Given the description of an element on the screen output the (x, y) to click on. 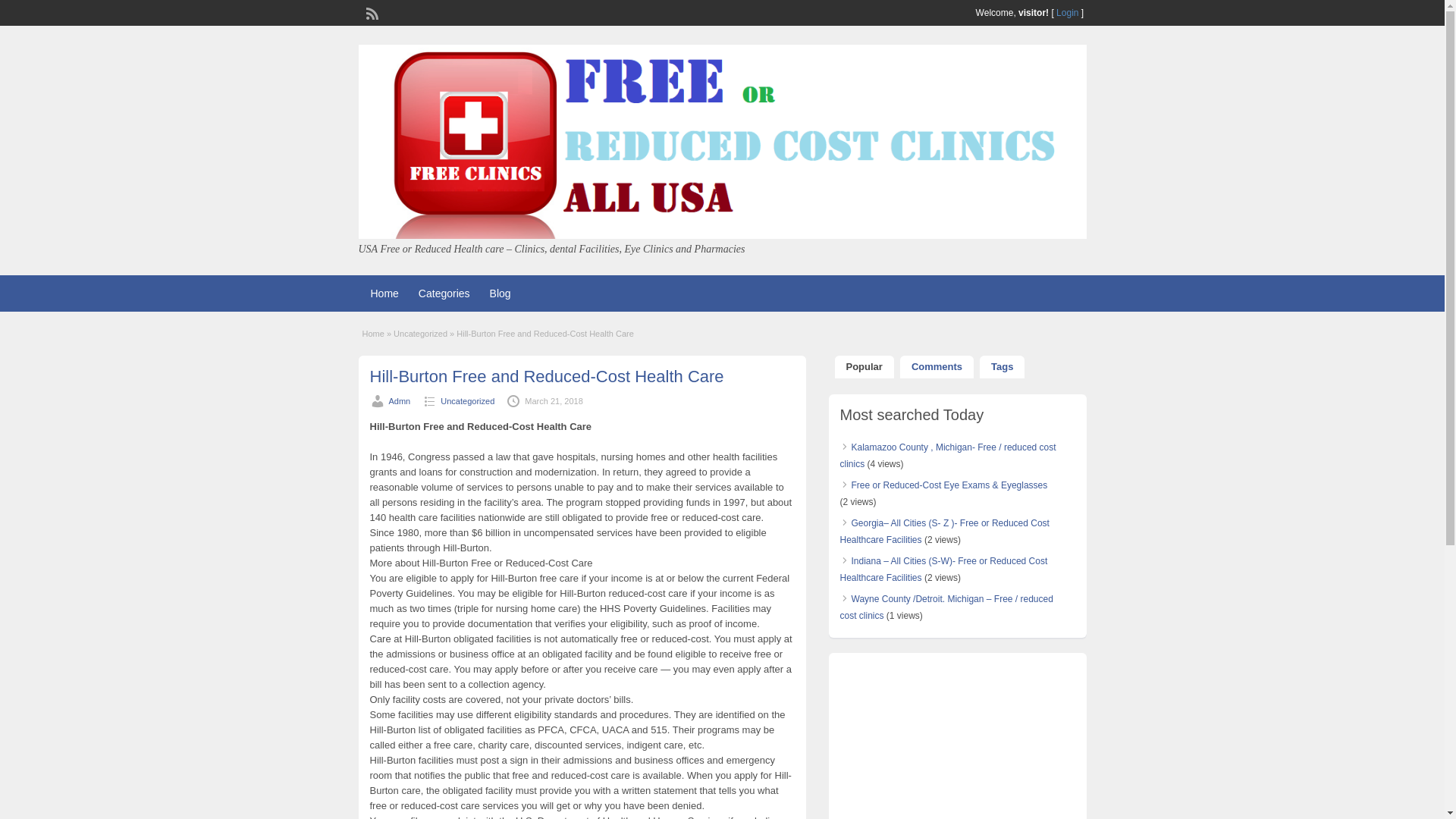
Home (384, 292)
Posts by Admn (399, 400)
Login (1067, 12)
Popular (863, 366)
Home (373, 333)
RSS Feed (369, 11)
Tags (1002, 366)
Blog (499, 292)
Hill-Burton Free and Reduced-Cost Health Care (546, 375)
Categories (443, 292)
